Given the description of an element on the screen output the (x, y) to click on. 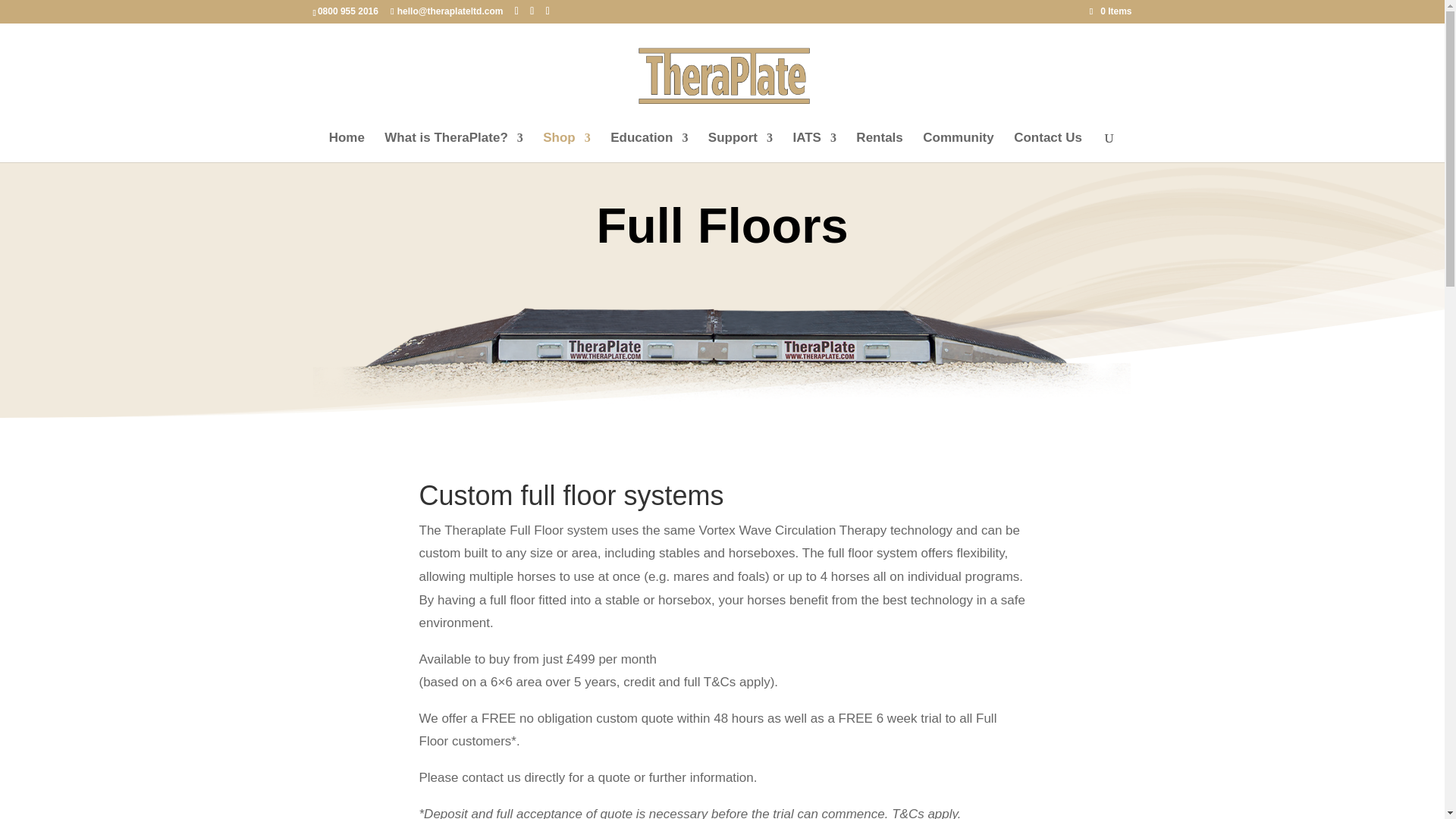
Shop (567, 147)
Rentals (879, 147)
Community (958, 147)
0 Items (1110, 10)
Home (347, 147)
Education (648, 147)
What is TheraPlate? (453, 147)
Contact Us (1047, 147)
Support (740, 147)
IATS (813, 147)
